Given the description of an element on the screen output the (x, y) to click on. 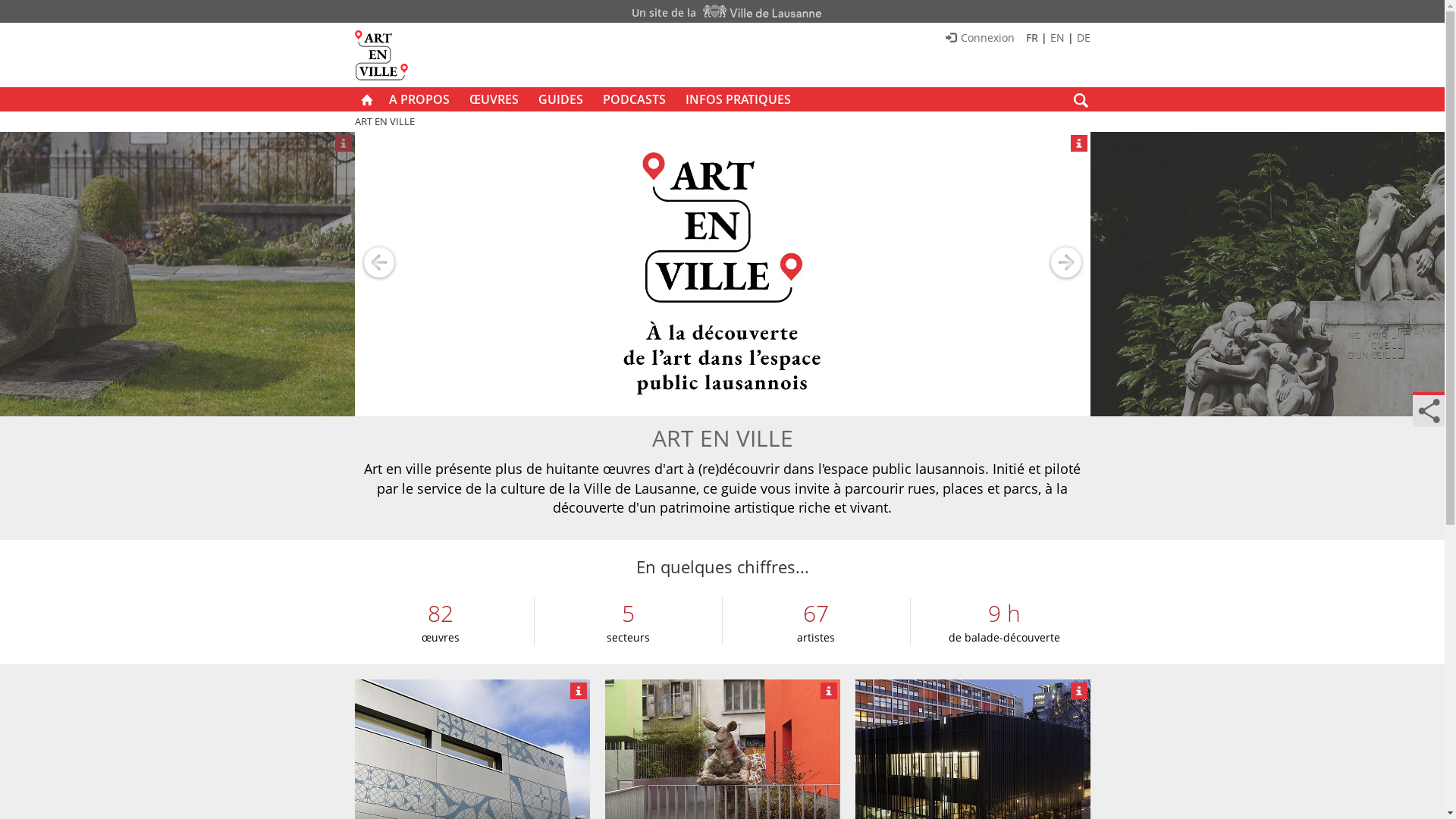
INFOS PRATIQUES Element type: text (737, 99)
FR Element type: text (1031, 37)
ART EN VILLE Element type: text (384, 121)
EN Element type: text (1056, 37)
PODCASTS Element type: text (634, 99)
GUIDES Element type: text (559, 99)
DE Element type: text (1083, 37)
Connexion Element type: text (978, 37)
A PROPOS Element type: text (419, 99)
